Given the description of an element on the screen output the (x, y) to click on. 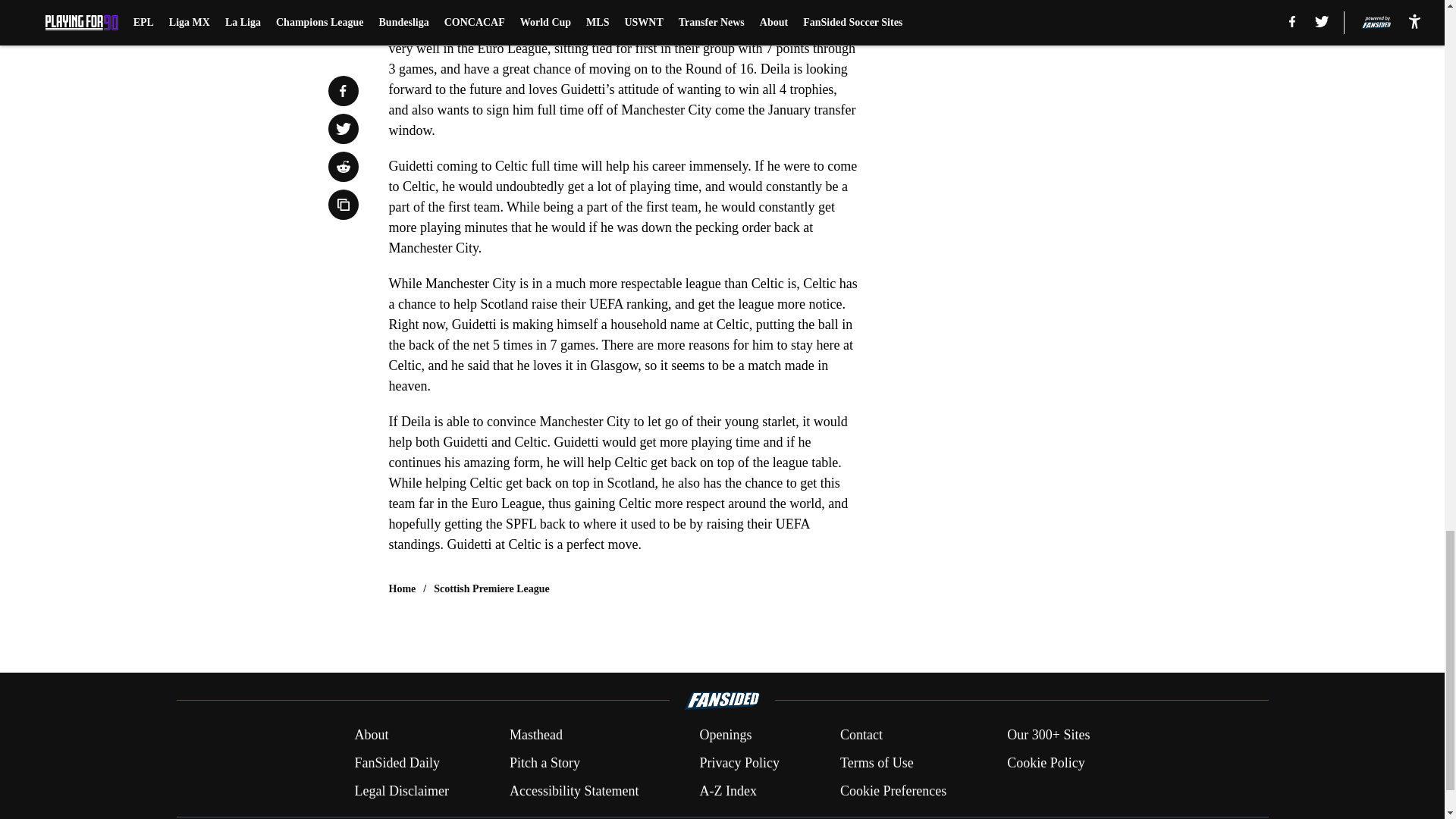
Contact (861, 734)
About (370, 734)
Openings (724, 734)
Home (401, 589)
Pitch a Story (544, 762)
Scottish Premiere League (491, 589)
Masthead (535, 734)
FanSided Daily (396, 762)
Privacy Policy (738, 762)
Terms of Use (877, 762)
